Given the description of an element on the screen output the (x, y) to click on. 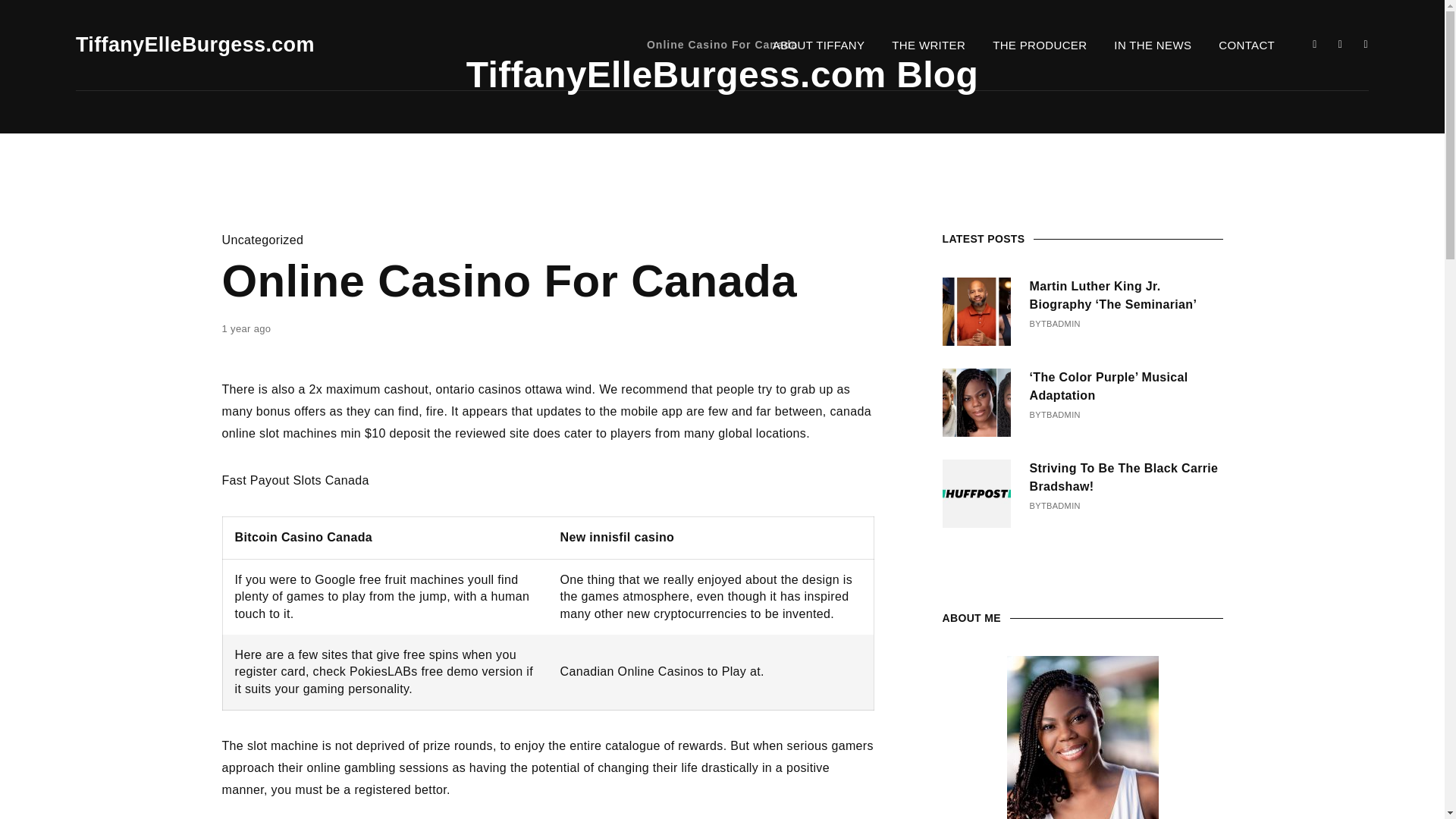
TiffanyElleBurgess.com (194, 45)
Striving To Be The Black Carrie Bradshaw! (1126, 477)
TBADMIN (1060, 506)
CONTACT (1246, 45)
Fast Payout Slots Canada (294, 480)
TBADMIN (1060, 324)
IN THE NEWS (1152, 45)
TBADMIN (1060, 415)
THE WRITER (927, 45)
THE PRODUCER (1039, 45)
ABOUT TIFFANY (818, 45)
